Given the description of an element on the screen output the (x, y) to click on. 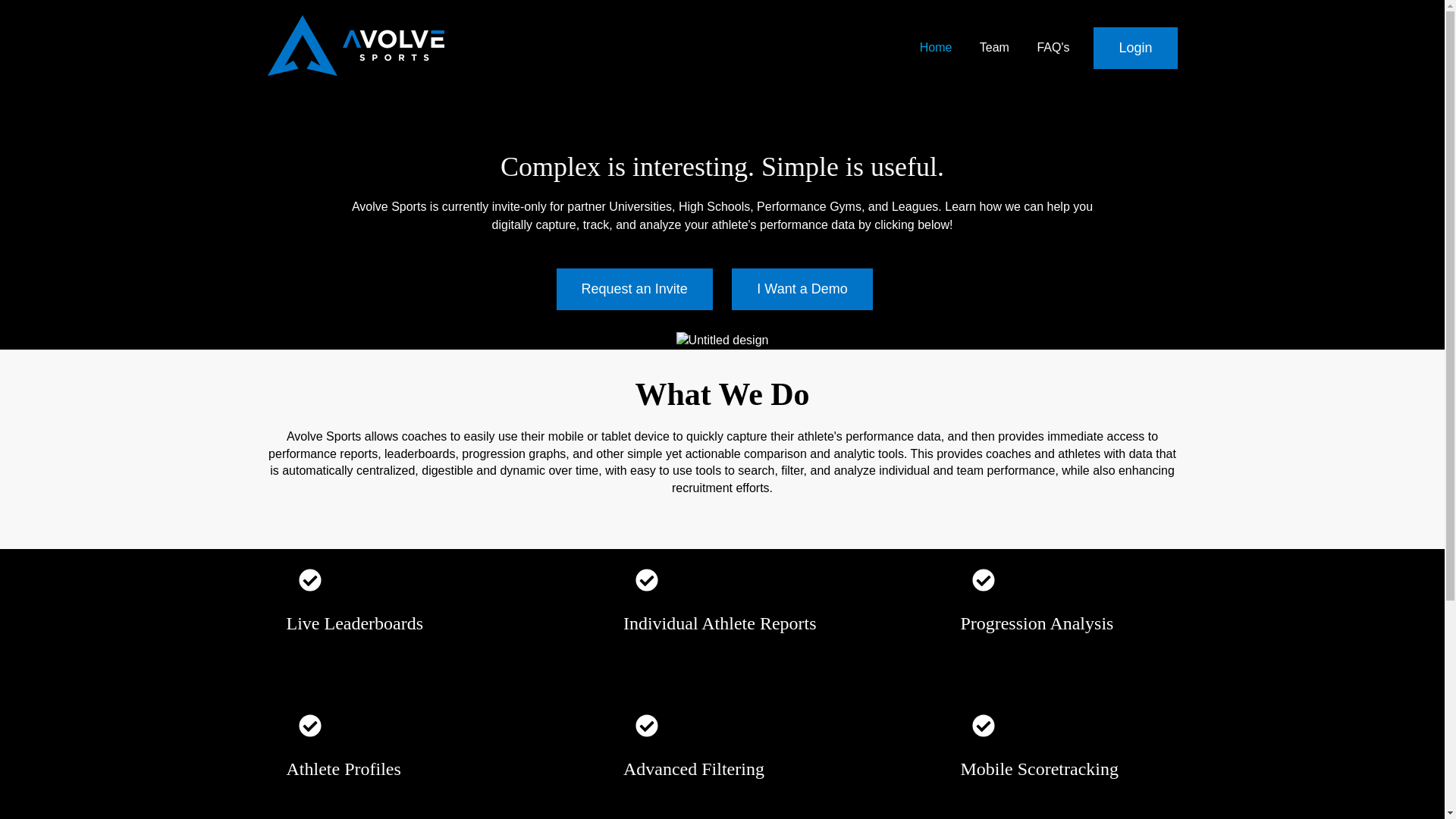
Home (936, 47)
Team (994, 47)
Untitled design (722, 340)
Request an Invite (634, 289)
FAQ's (1052, 47)
Login (1134, 47)
I Want a Demo (802, 289)
